Given the description of an element on the screen output the (x, y) to click on. 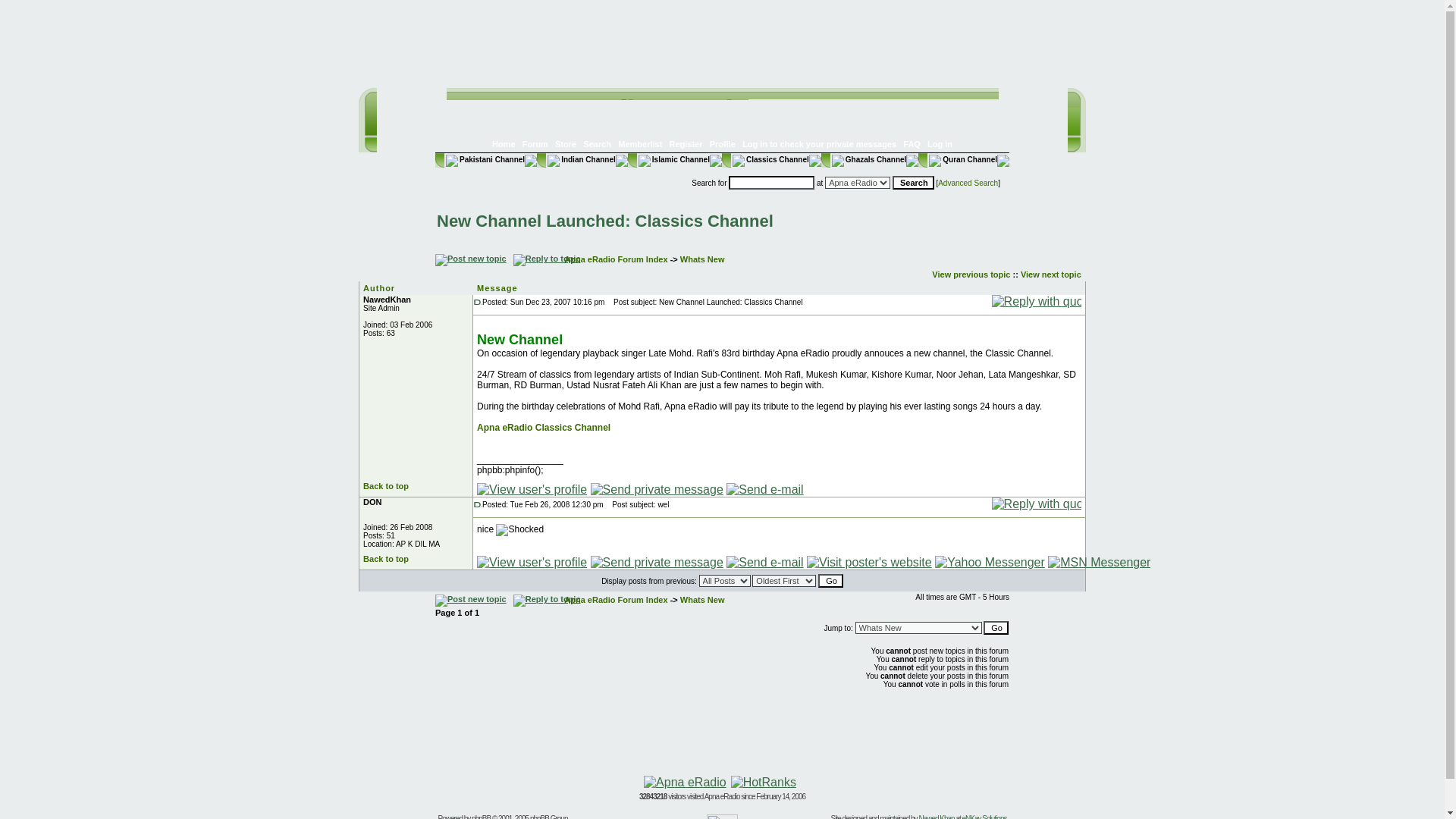
Memberlist (639, 143)
Log in to check your private messages (819, 143)
Go (830, 581)
Ghazals Channel (868, 159)
Apna eRadio Forum Index (615, 258)
Apna eRadio Classics Channel (543, 427)
Profile (722, 143)
New Channel Launched: Classics Channel (604, 220)
Classics Channel (769, 159)
Indian Channel (580, 159)
Forum (535, 143)
FAQ (911, 143)
Store (565, 143)
Quran Channel (962, 159)
Back to top (385, 485)
